Given the description of an element on the screen output the (x, y) to click on. 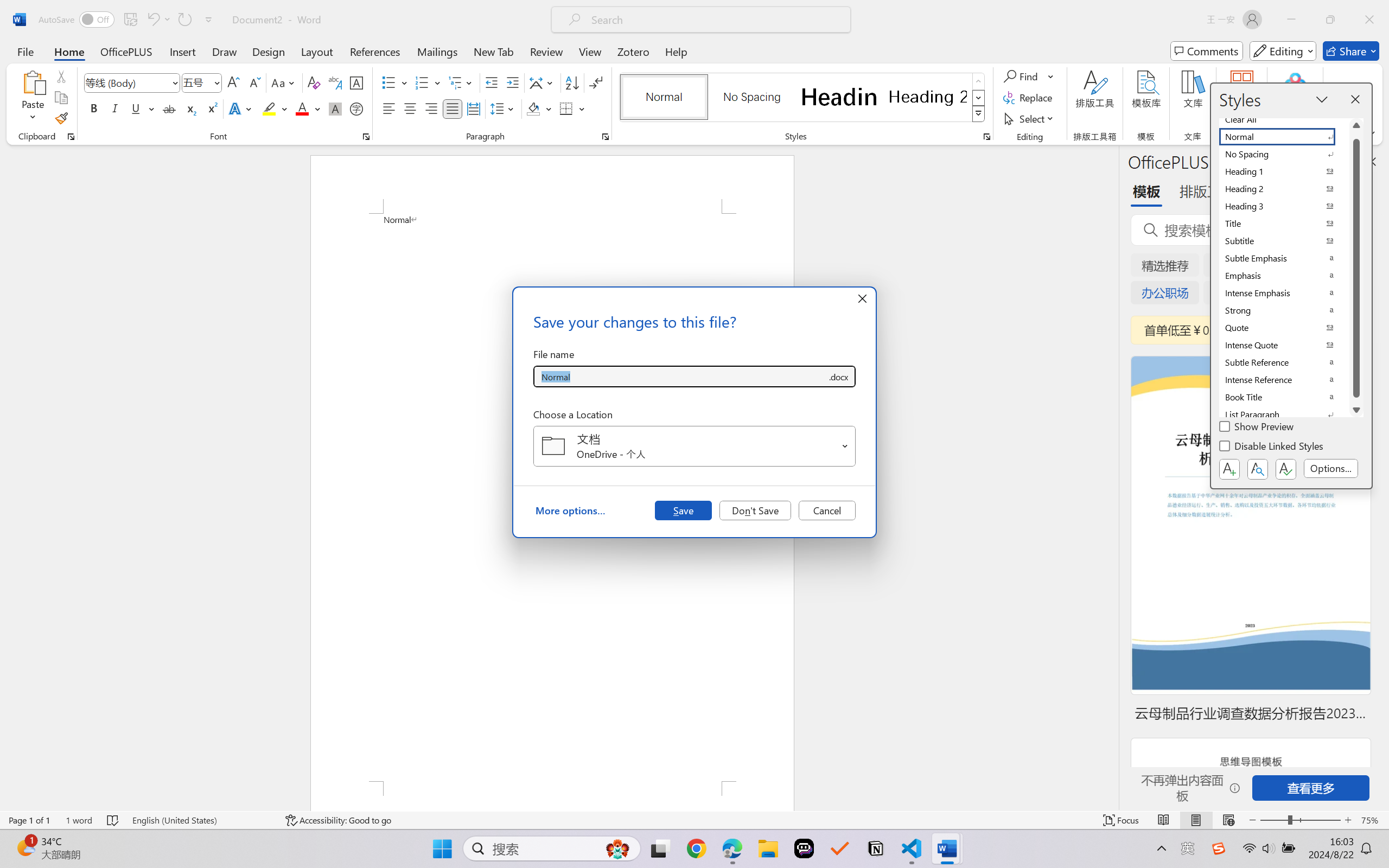
Normal (1283, 136)
Font Color (308, 108)
Heading 3 (1283, 206)
Sort... (571, 82)
Don't Save (755, 509)
Heading 1 (839, 96)
Multilevel List (461, 82)
Clear All (1283, 119)
List Paragraph (1283, 414)
Help (675, 51)
Phonetic Guide... (334, 82)
Accessibility Checker Accessibility: Good to go (338, 819)
Subtle Emphasis (1283, 258)
